Given the description of an element on the screen output the (x, y) to click on. 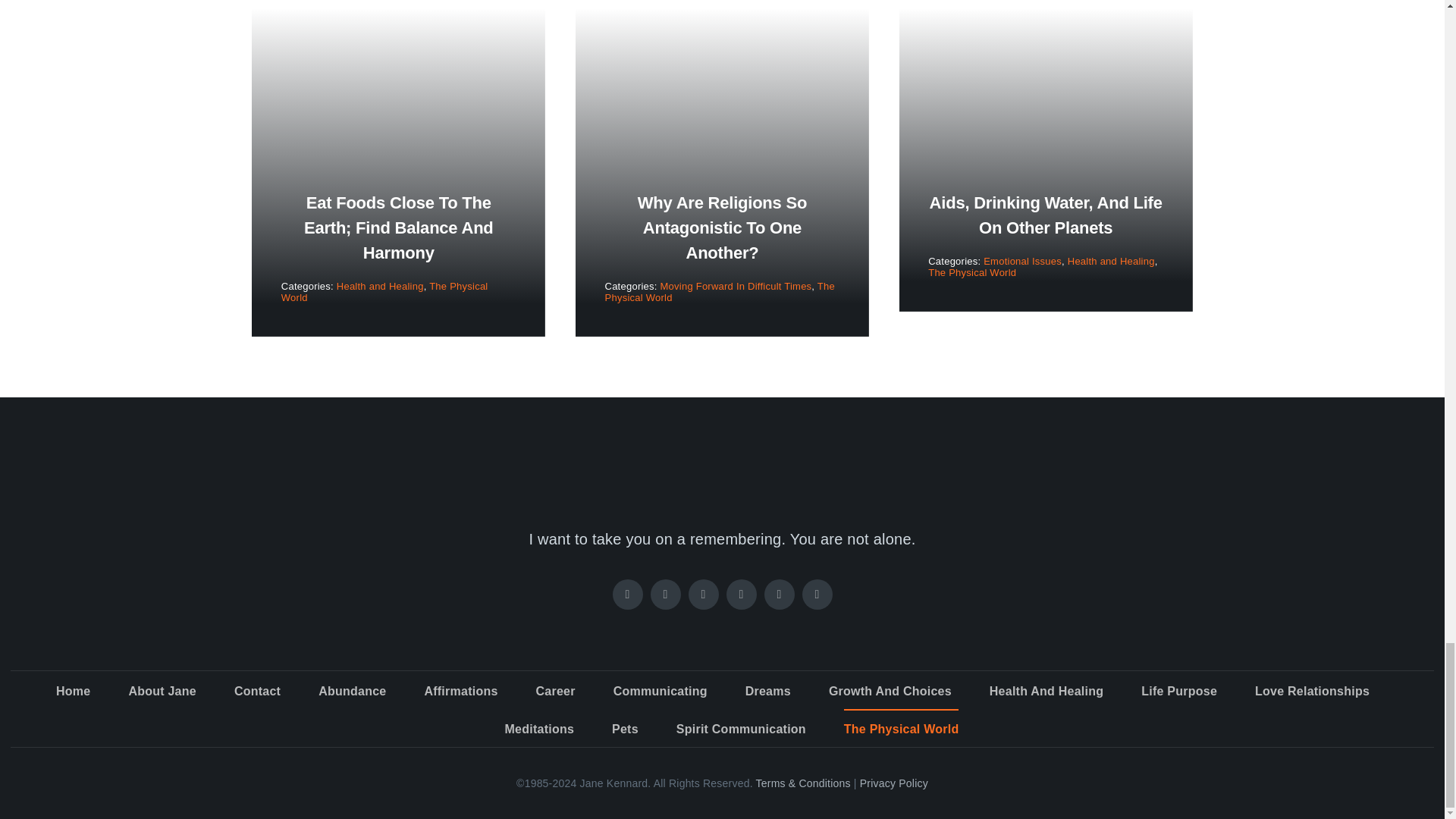
Facebook (627, 594)
YouTube (779, 594)
Tiktok (665, 594)
X (703, 594)
Instagram (741, 594)
